Given the description of an element on the screen output the (x, y) to click on. 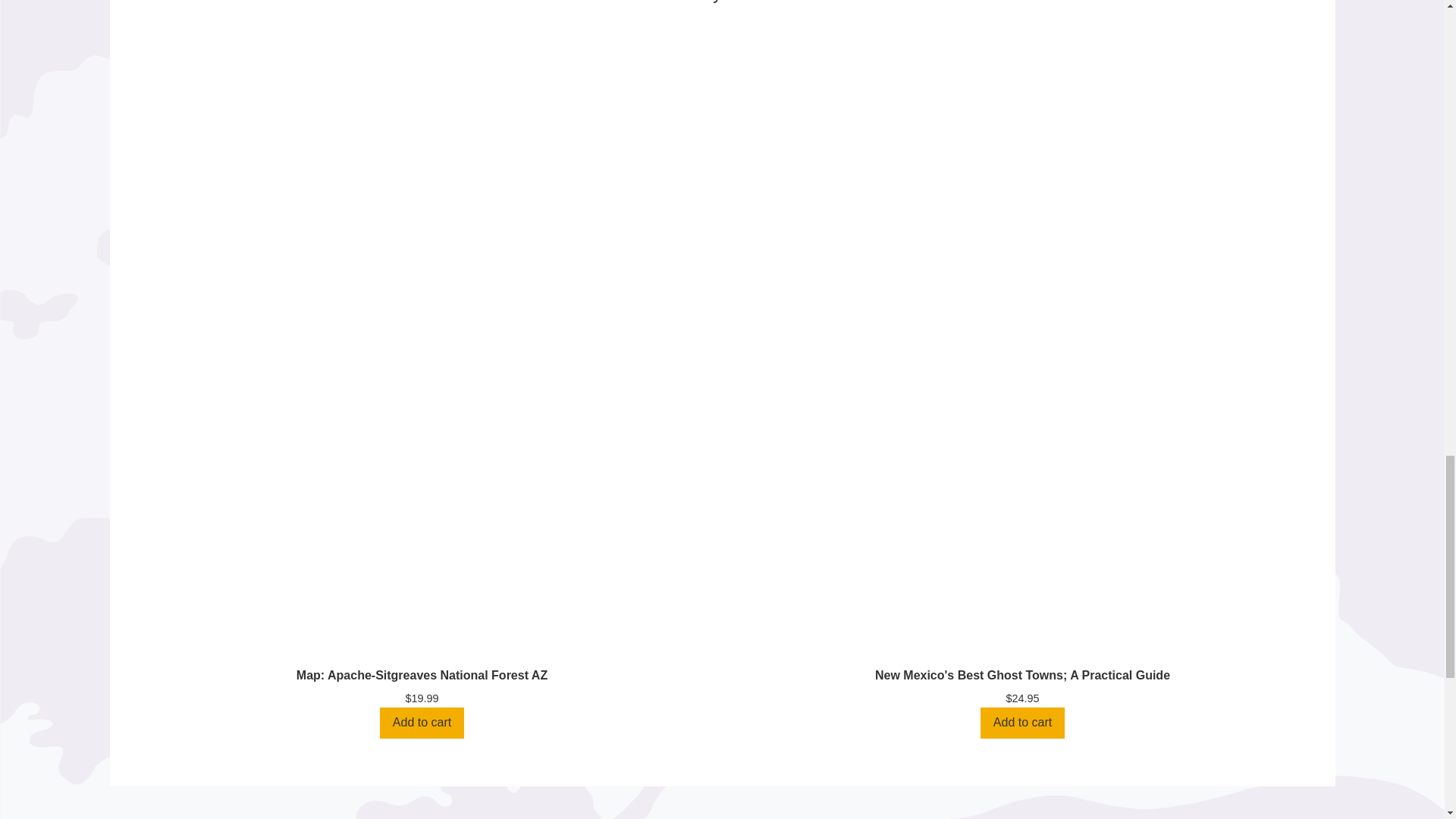
Add to cart (422, 722)
Add to cart (1021, 722)
